Given the description of an element on the screen output the (x, y) to click on. 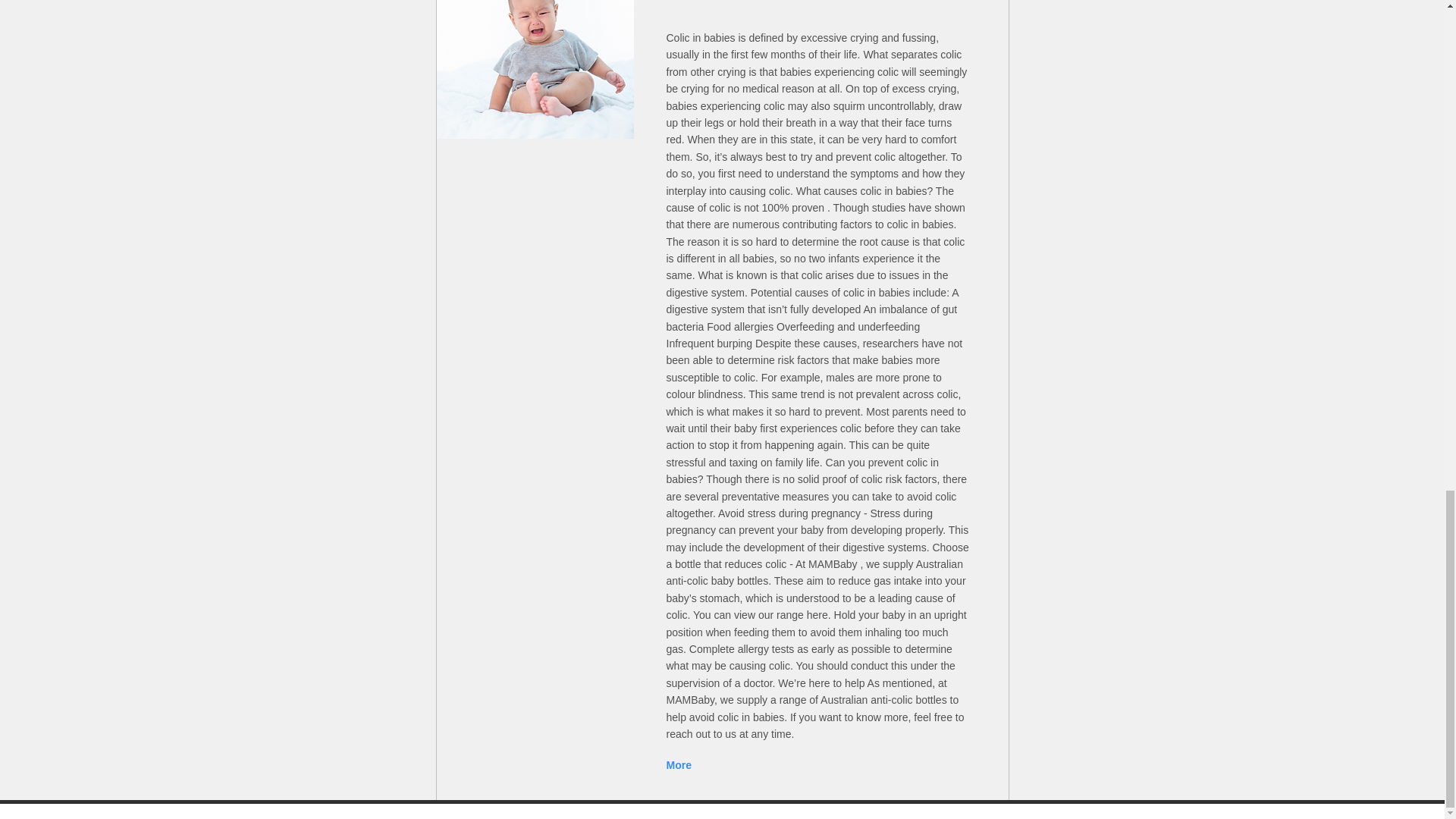
More (680, 764)
What is colic in babies, and how can you treat it? (534, 69)
